Given the description of an element on the screen output the (x, y) to click on. 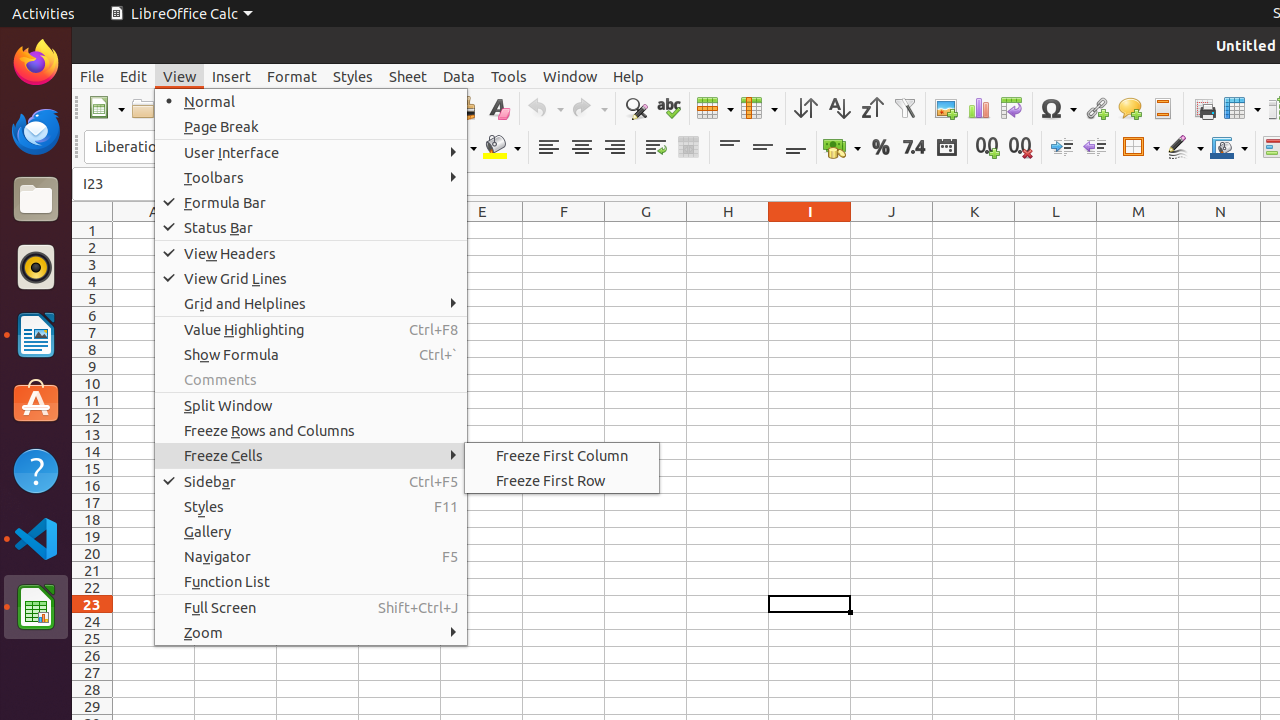
Format Element type: menu (292, 76)
Window Element type: menu (570, 76)
Activities Element type: label (43, 13)
Freeze First Row Element type: menu-item (562, 480)
B1 Element type: table-cell (236, 230)
